Given the description of an element on the screen output the (x, y) to click on. 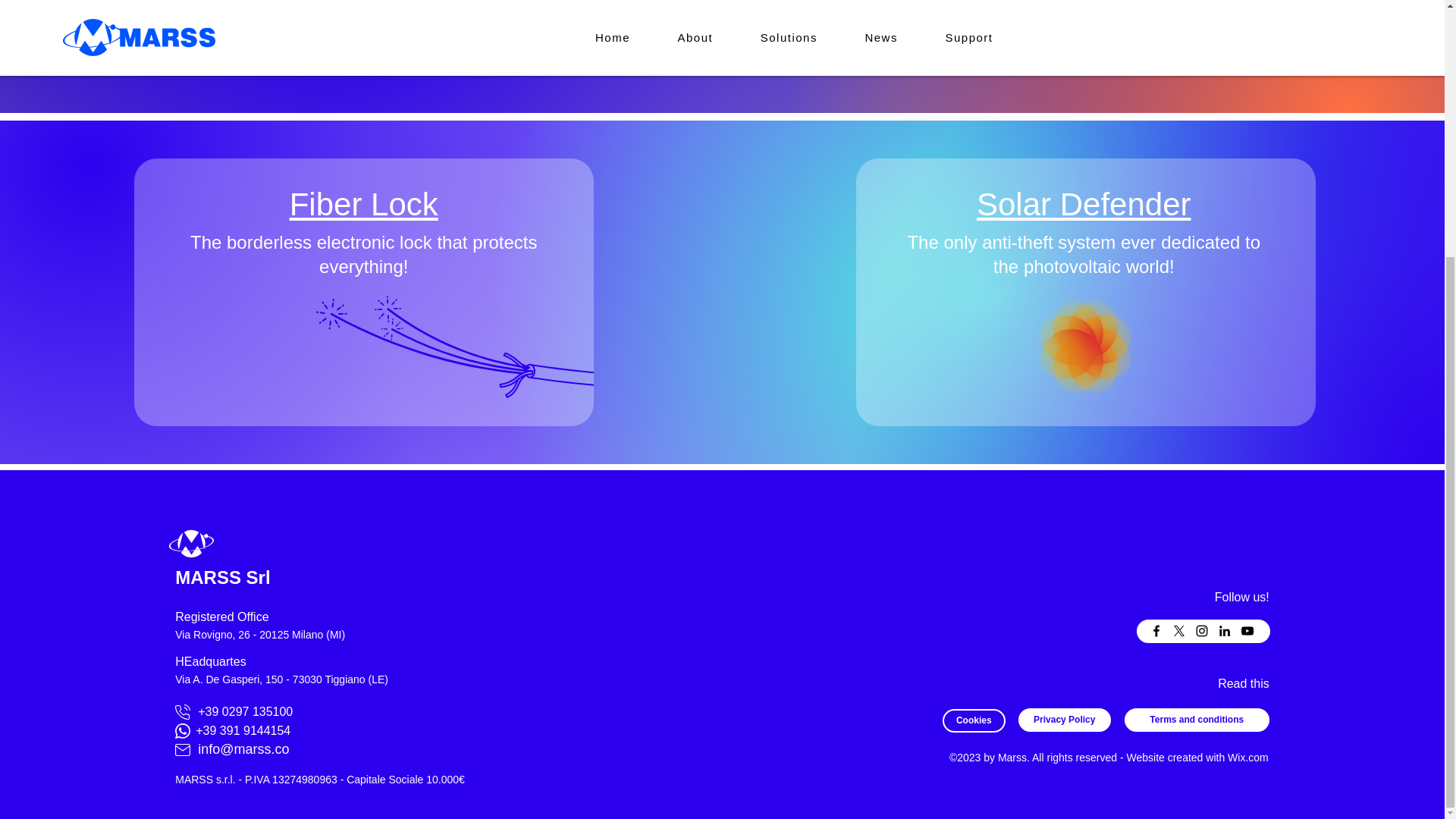
Fiber Lock (363, 203)
Solar Defender (1083, 203)
Terms and conditions (1196, 720)
Cookies (974, 720)
Privacy Policy (1063, 720)
